Given the description of an element on the screen output the (x, y) to click on. 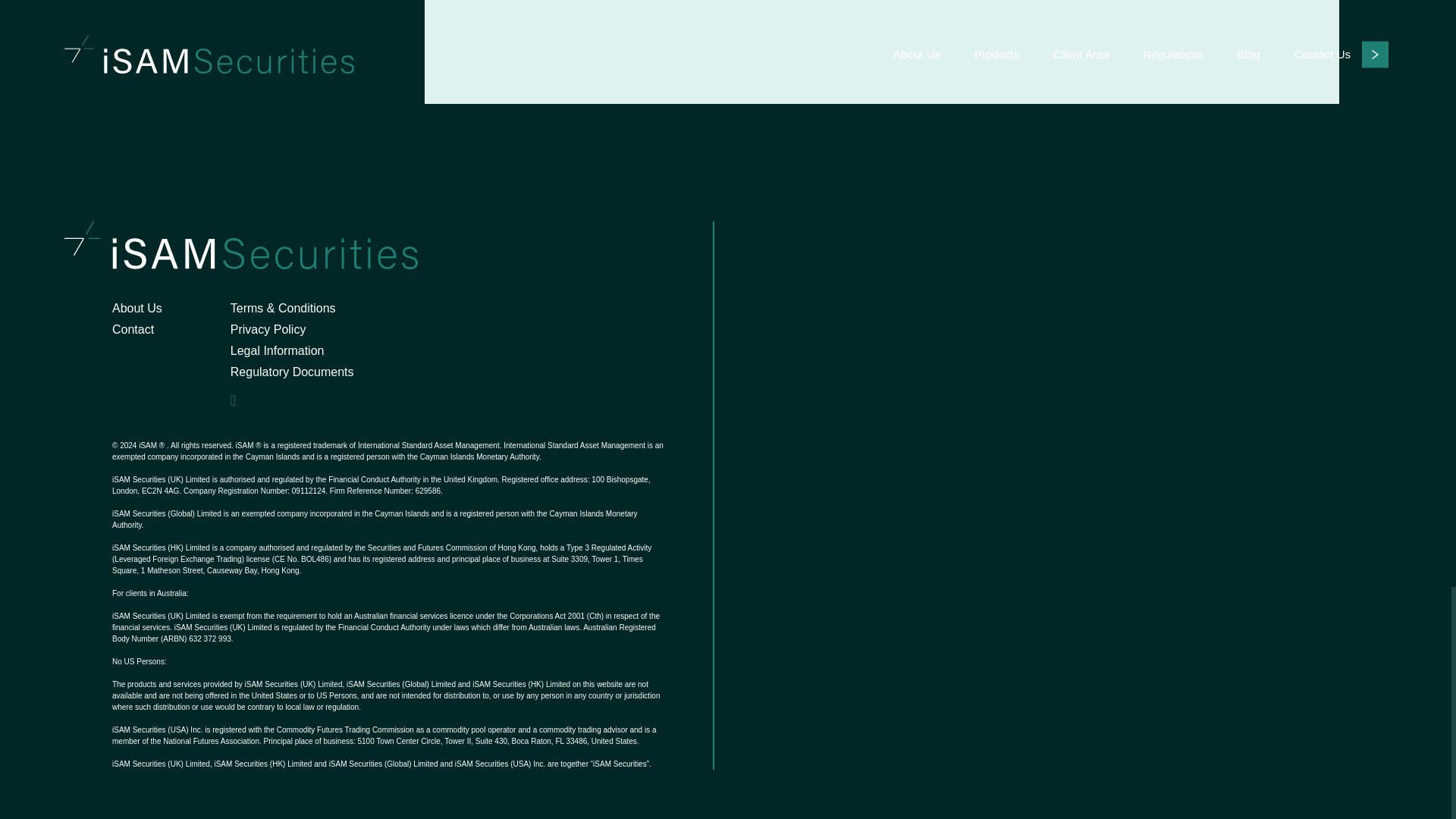
About Us (136, 308)
Regulatory Documents (291, 371)
Legal Information (277, 350)
Contact (133, 328)
Privacy Policy (267, 328)
